Given the description of an element on the screen output the (x, y) to click on. 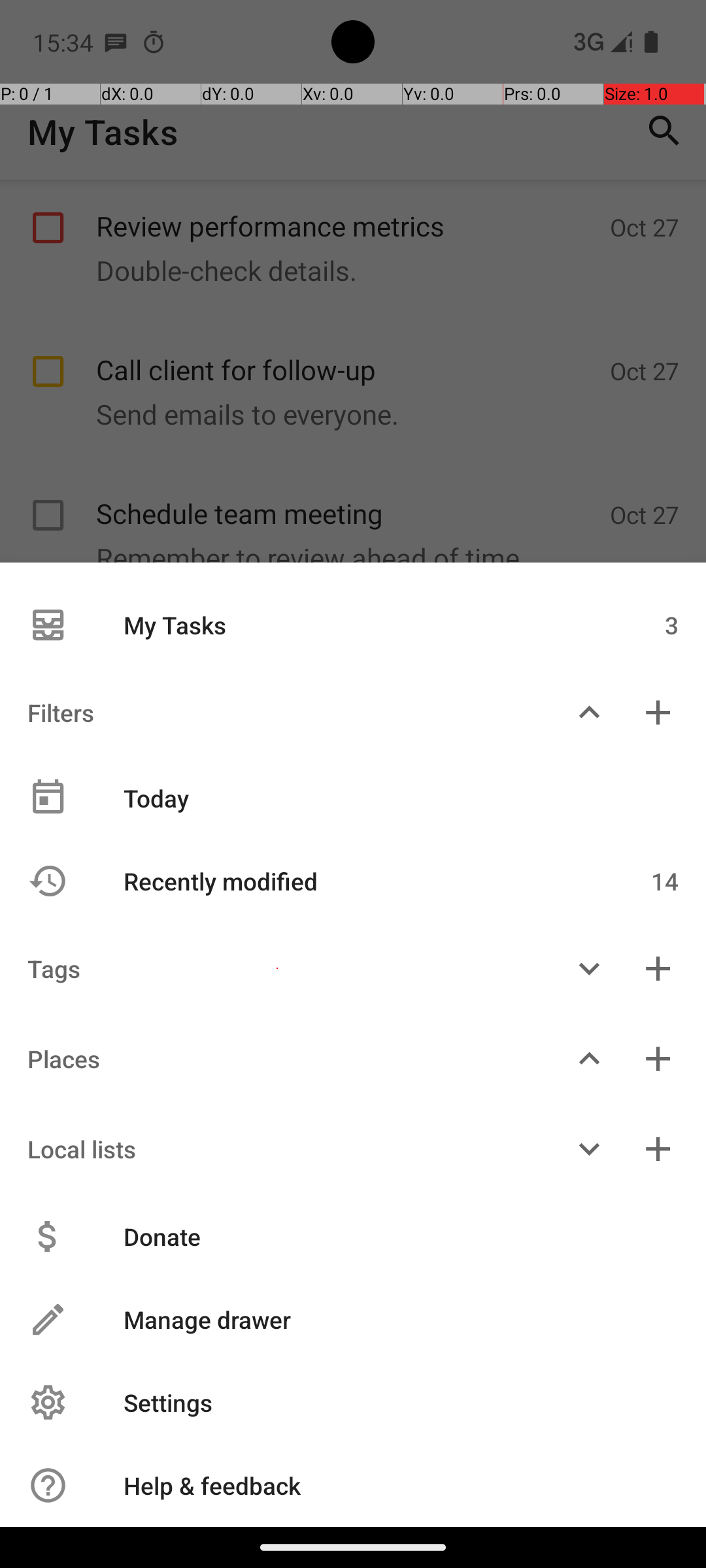
Filters Element type: android.widget.TextView (277, 712)
Recently modified Element type: android.widget.CheckedTextView (344, 880)
Places Element type: android.widget.TextView (277, 1058)
Manage drawer Element type: android.widget.TextView (387, 1319)
